Given the description of an element on the screen output the (x, y) to click on. 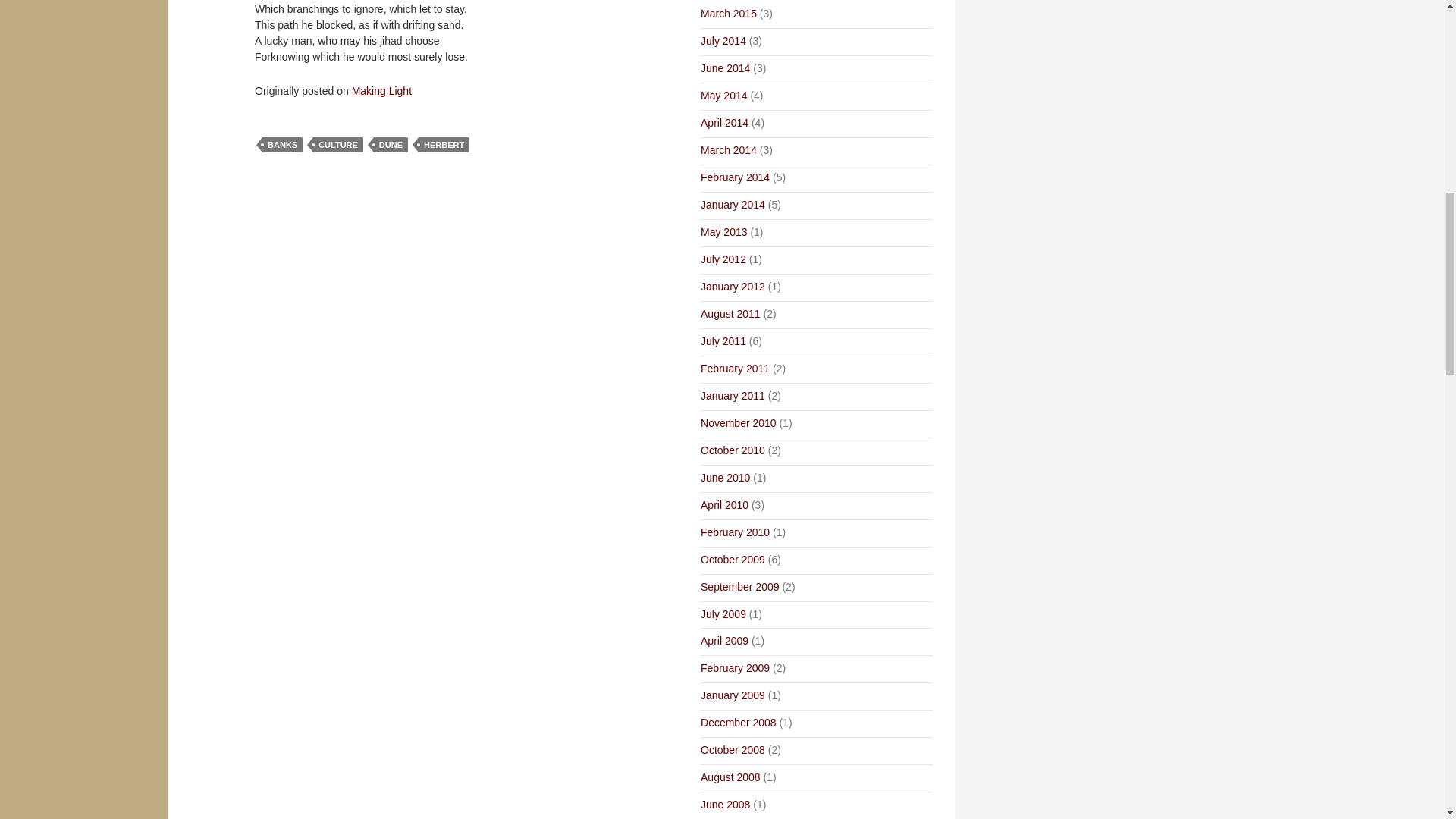
HERBERT (443, 144)
Making Light (382, 91)
BANKS (282, 144)
DUNE (390, 144)
CULTURE (337, 144)
